Given the description of an element on the screen output the (x, y) to click on. 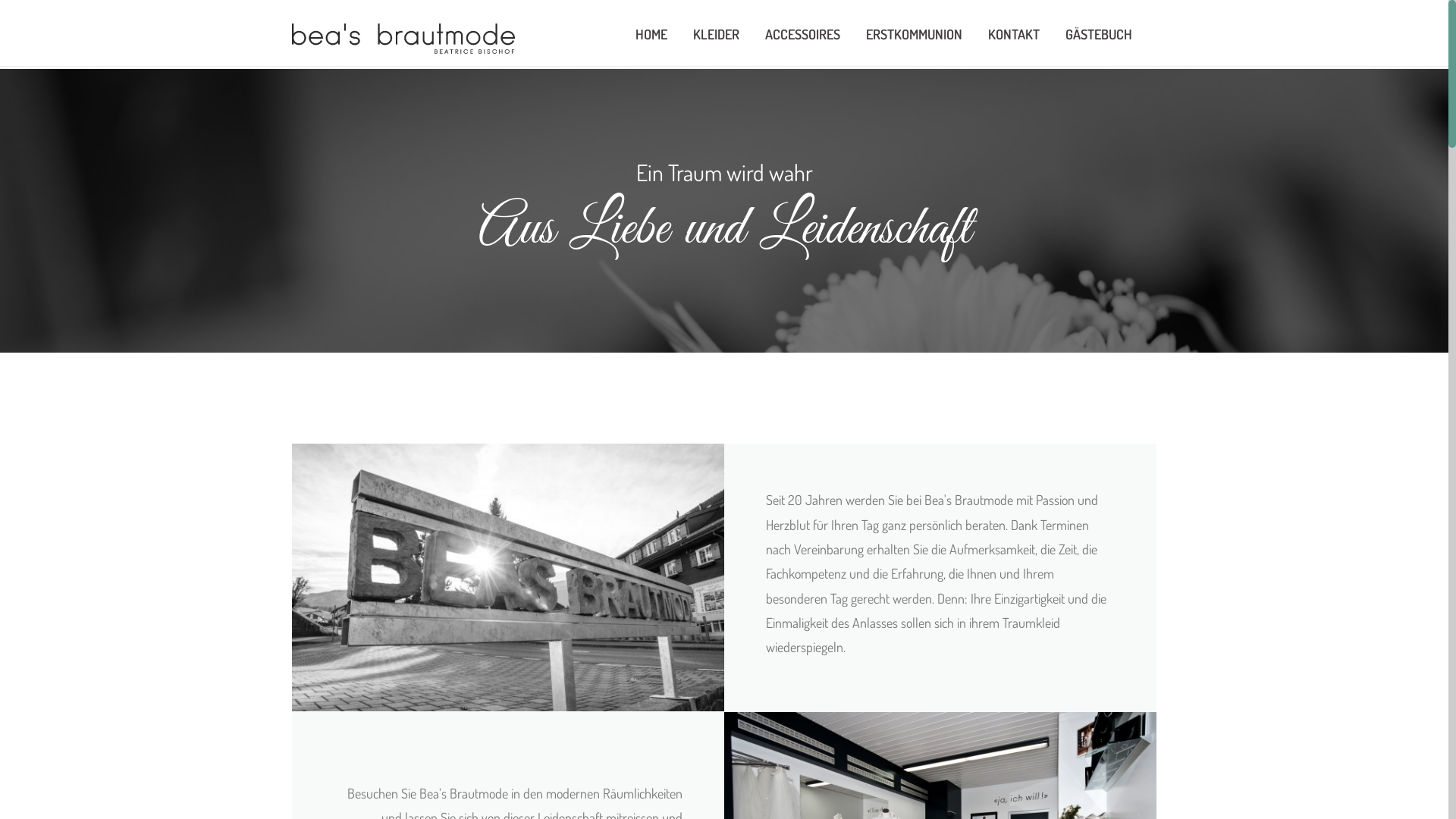
HOME Element type: text (651, 34)
ACCESSOIRES Element type: text (802, 34)
KLEIDER Element type: text (716, 34)
KONTAKT Element type: text (1013, 34)
ERSTKOMMUNION Element type: text (914, 34)
